Given the description of an element on the screen output the (x, y) to click on. 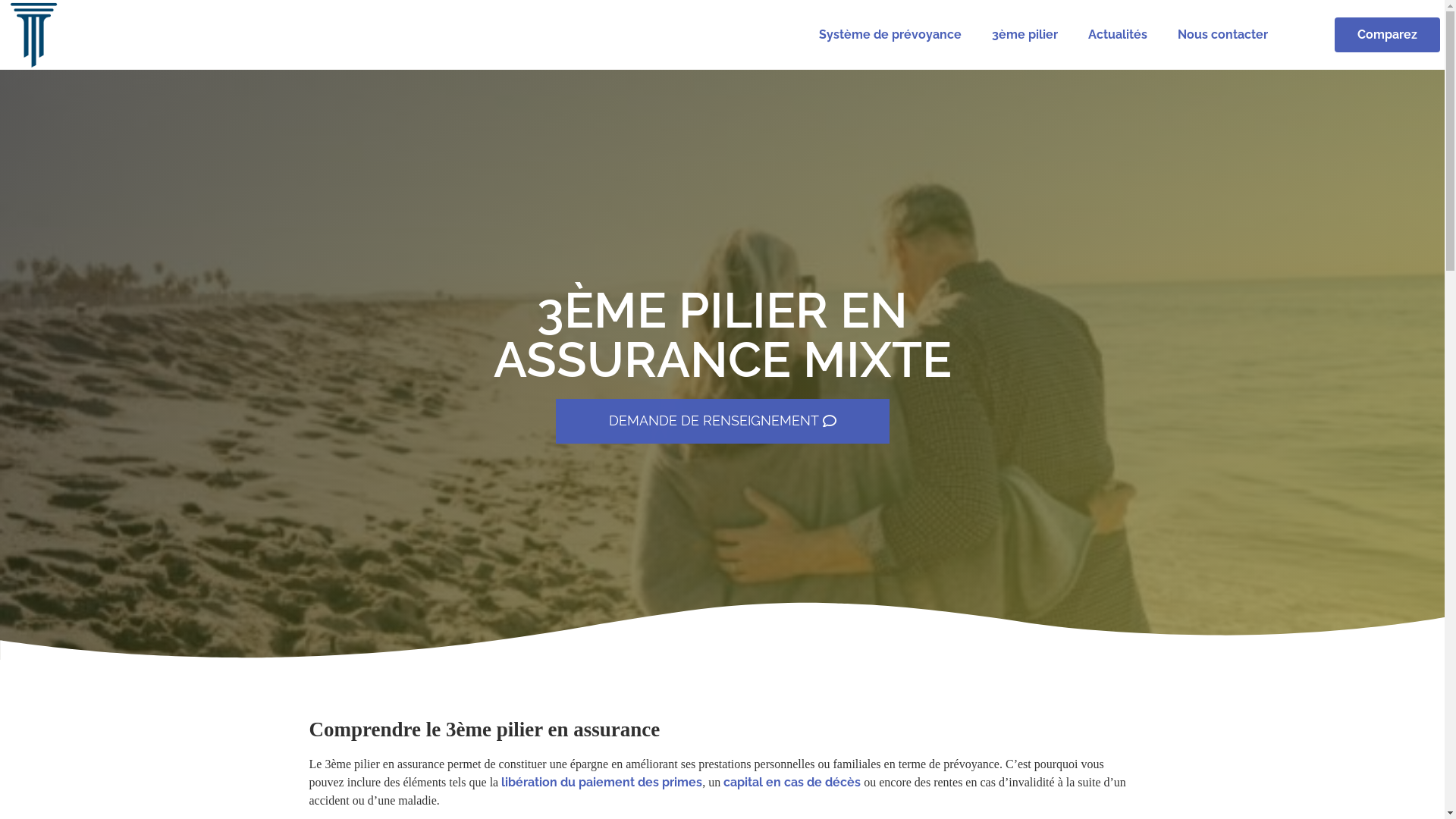
Nous contacter Element type: text (1221, 34)
DEMANDE DE RENSEIGNEMENT Element type: text (721, 420)
Comparez Element type: text (1387, 34)
